Given the description of an element on the screen output the (x, y) to click on. 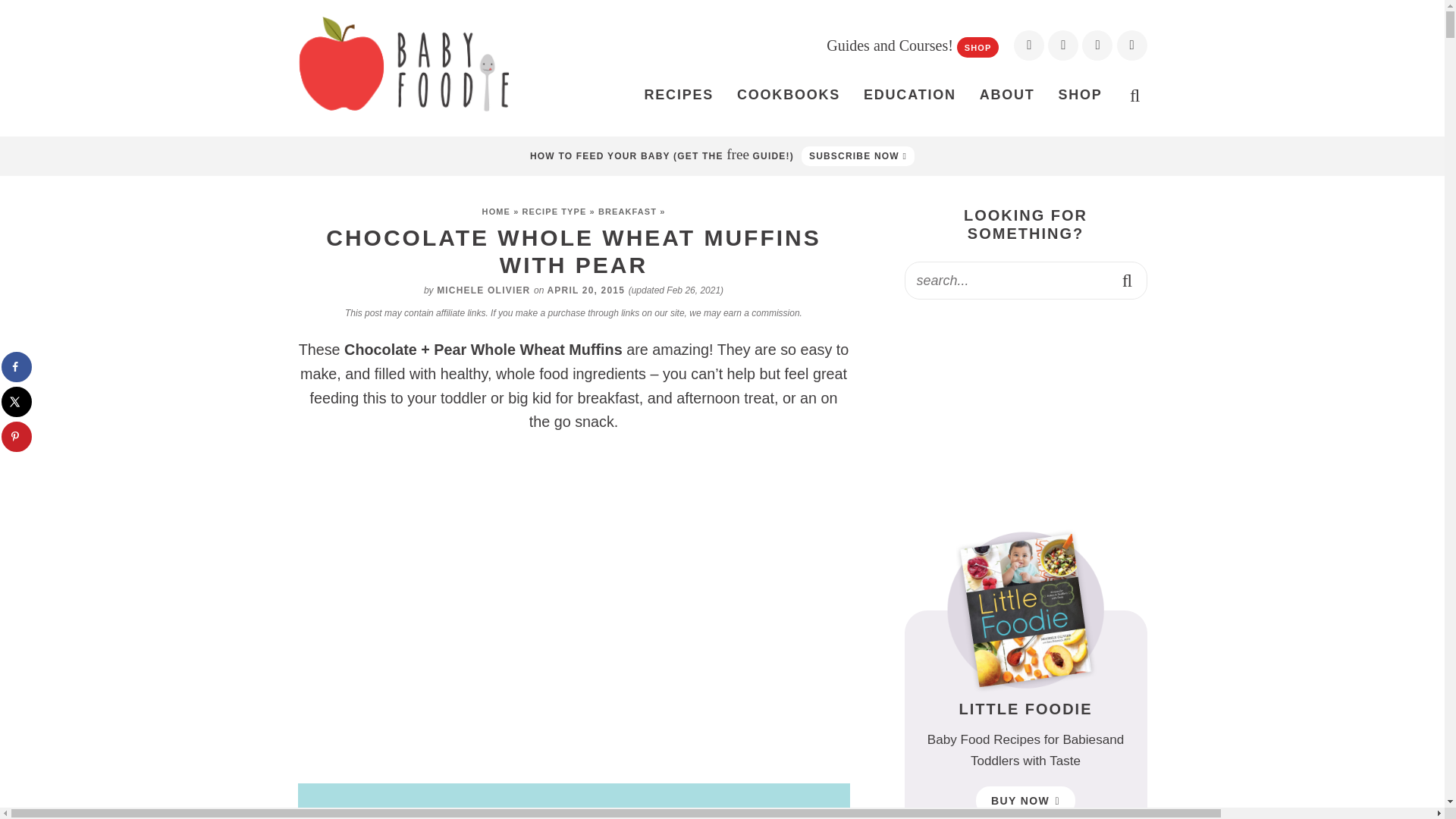
Share on X (16, 401)
Share on Facebook (16, 367)
Save to Pinterest (16, 436)
Baby Foode (403, 64)
